Given the description of an element on the screen output the (x, y) to click on. 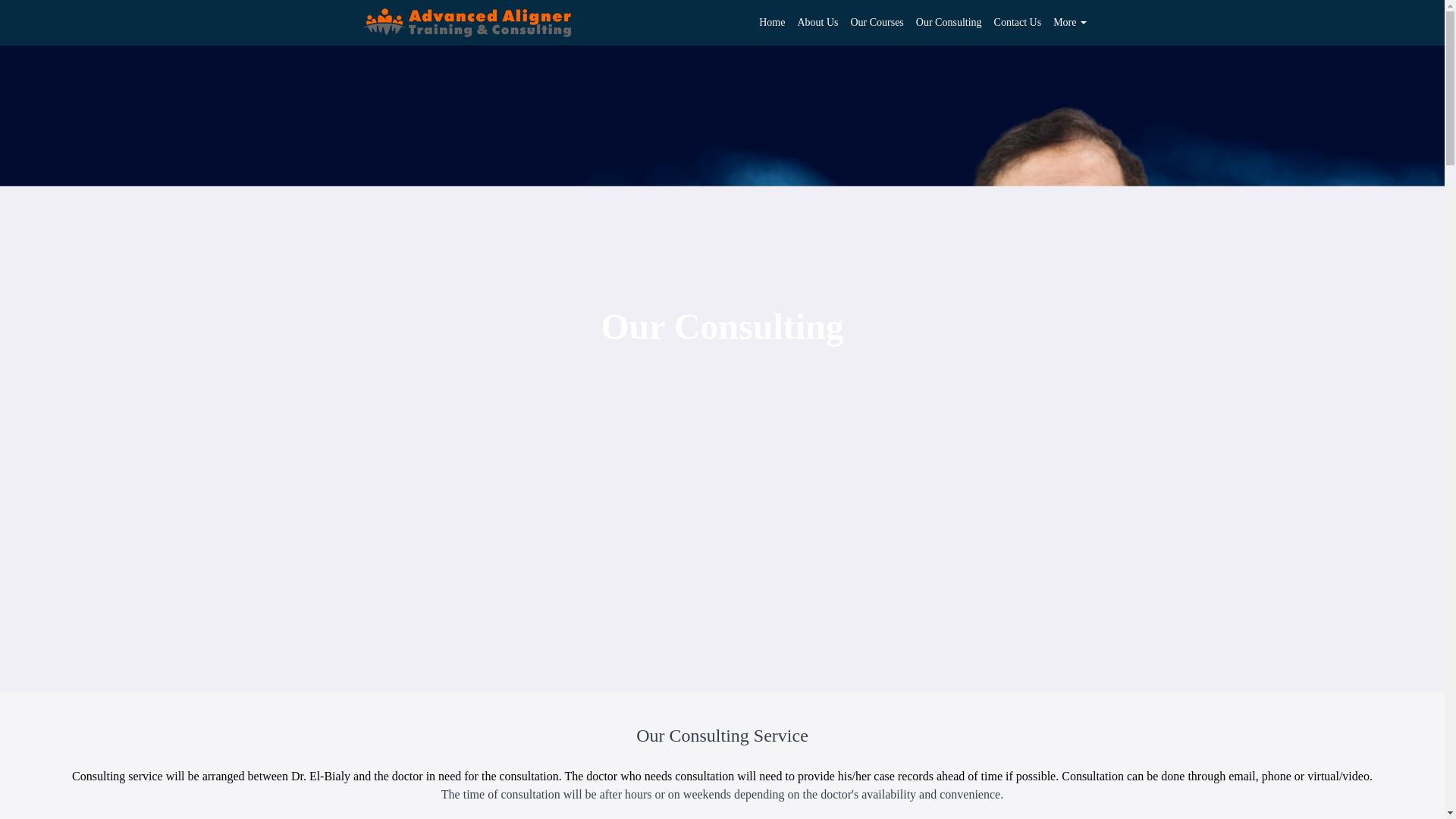
About Us (817, 22)
Home (771, 22)
Our Consulting (948, 22)
More (1074, 22)
Contact Us (1018, 22)
Our Courses (876, 22)
